Given the description of an element on the screen output the (x, y) to click on. 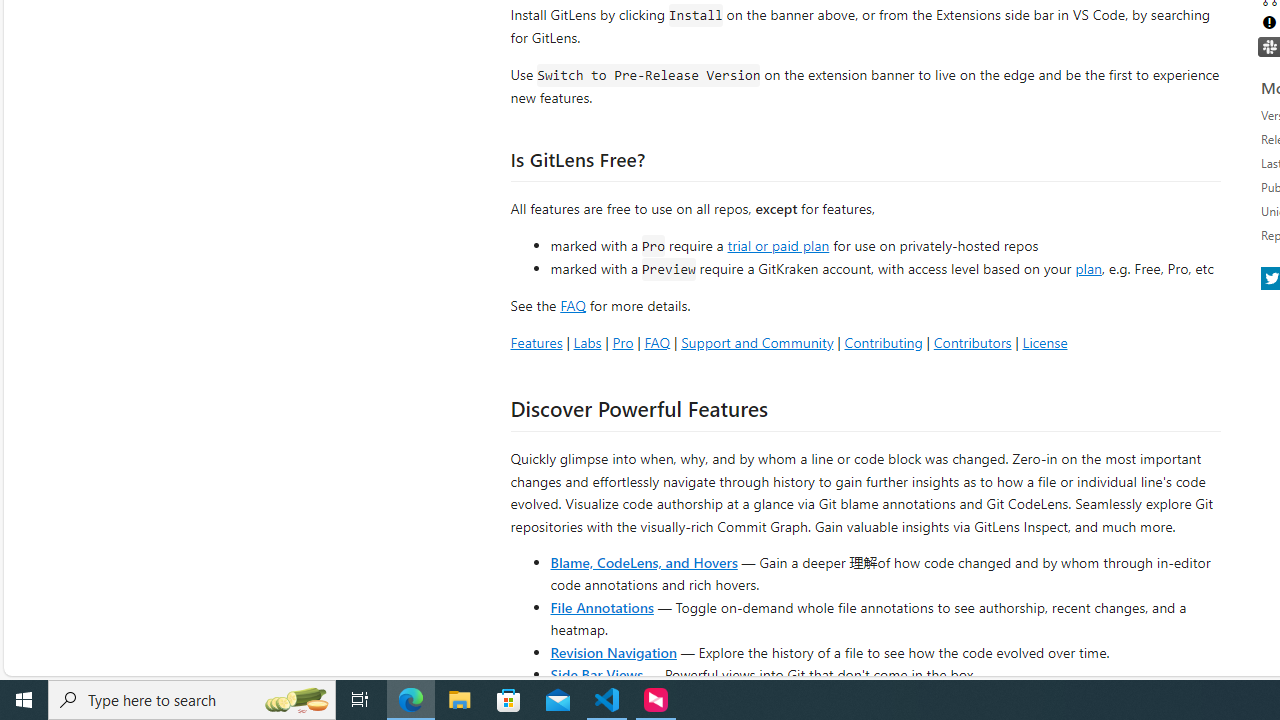
FAQ (656, 341)
plan (1088, 269)
Blame, CodeLens, and Hovers (644, 561)
